Given the description of an element on the screen output the (x, y) to click on. 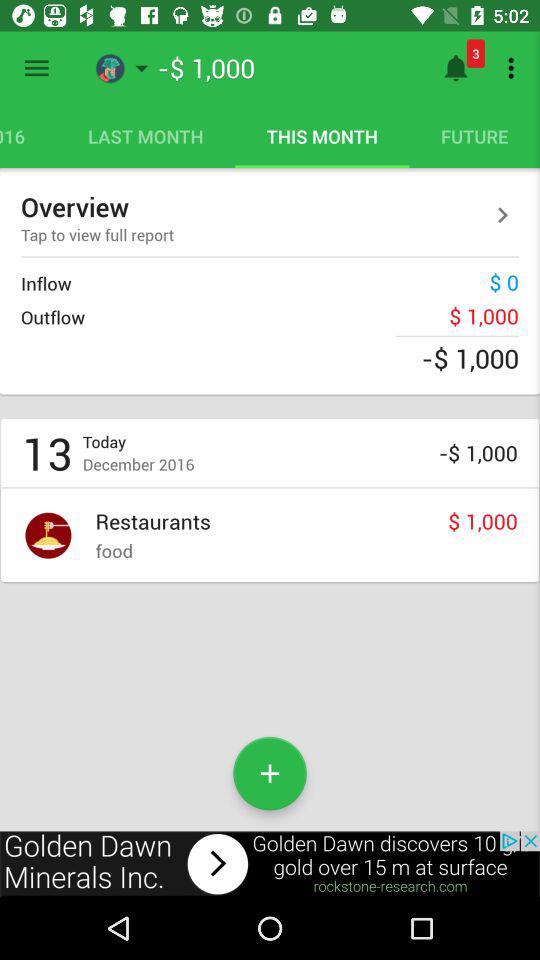
show app options (36, 68)
